Given the description of an element on the screen output the (x, y) to click on. 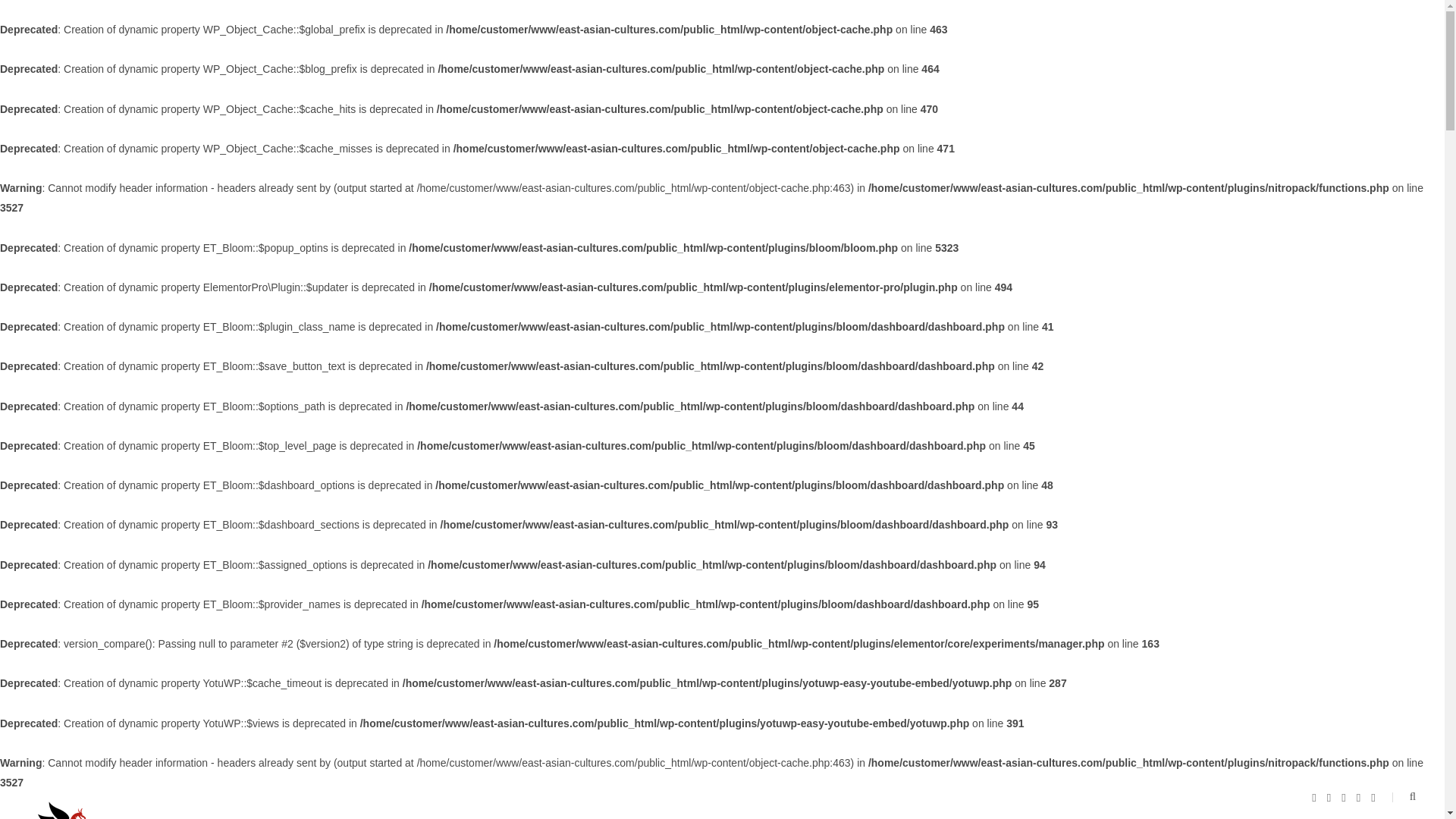
Contact (808, 805)
Blog (746, 805)
Search (1403, 797)
About (690, 805)
Home (631, 805)
Learn, live and experience East Asian Cultures (114, 808)
